Given the description of an element on the screen output the (x, y) to click on. 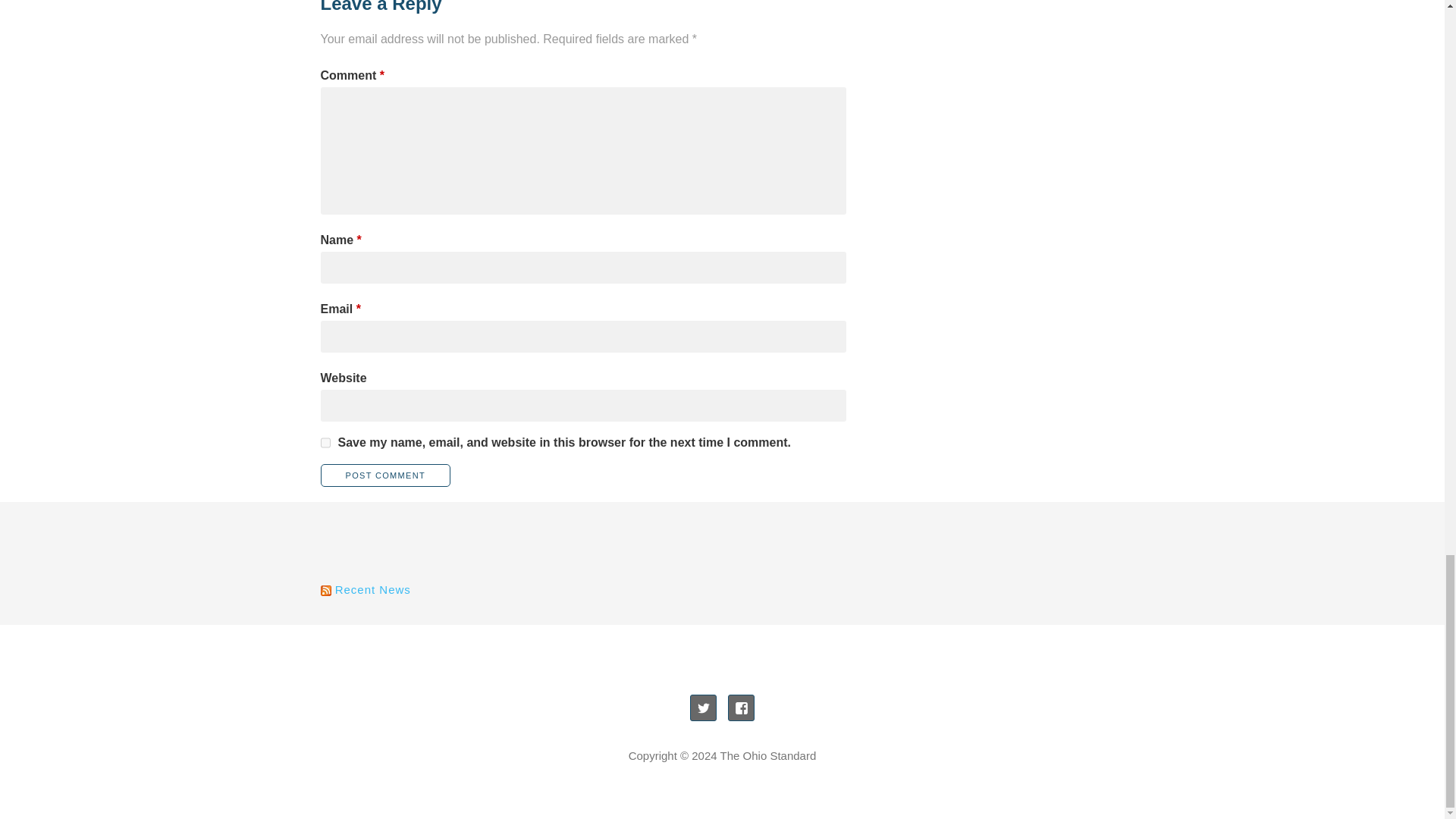
Post Comment (384, 475)
Recent News (372, 589)
Post Comment (384, 475)
yes (325, 442)
FACEBOOK (741, 707)
TWITTER (703, 707)
